Given the description of an element on the screen output the (x, y) to click on. 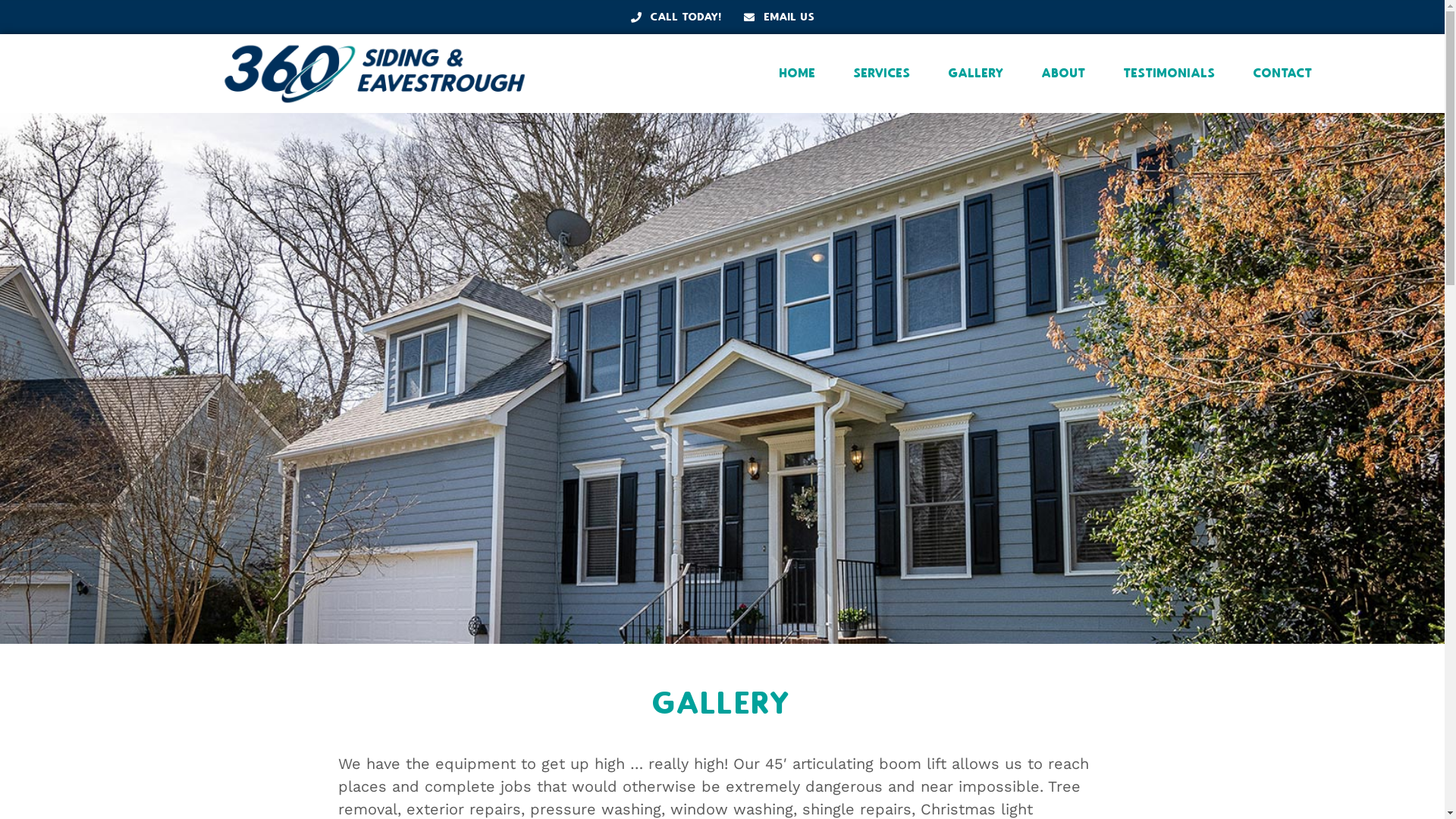
EMAIL US Element type: text (779, 17)
TESTIMONIALS Element type: text (1169, 72)
GALLERY Element type: text (975, 72)
CALL TODAY! Element type: text (675, 17)
CONTACT Element type: text (1282, 72)
SERVICES Element type: text (881, 72)
ABOUT Element type: text (1063, 72)
HOME Element type: text (797, 72)
